Given the description of an element on the screen output the (x, y) to click on. 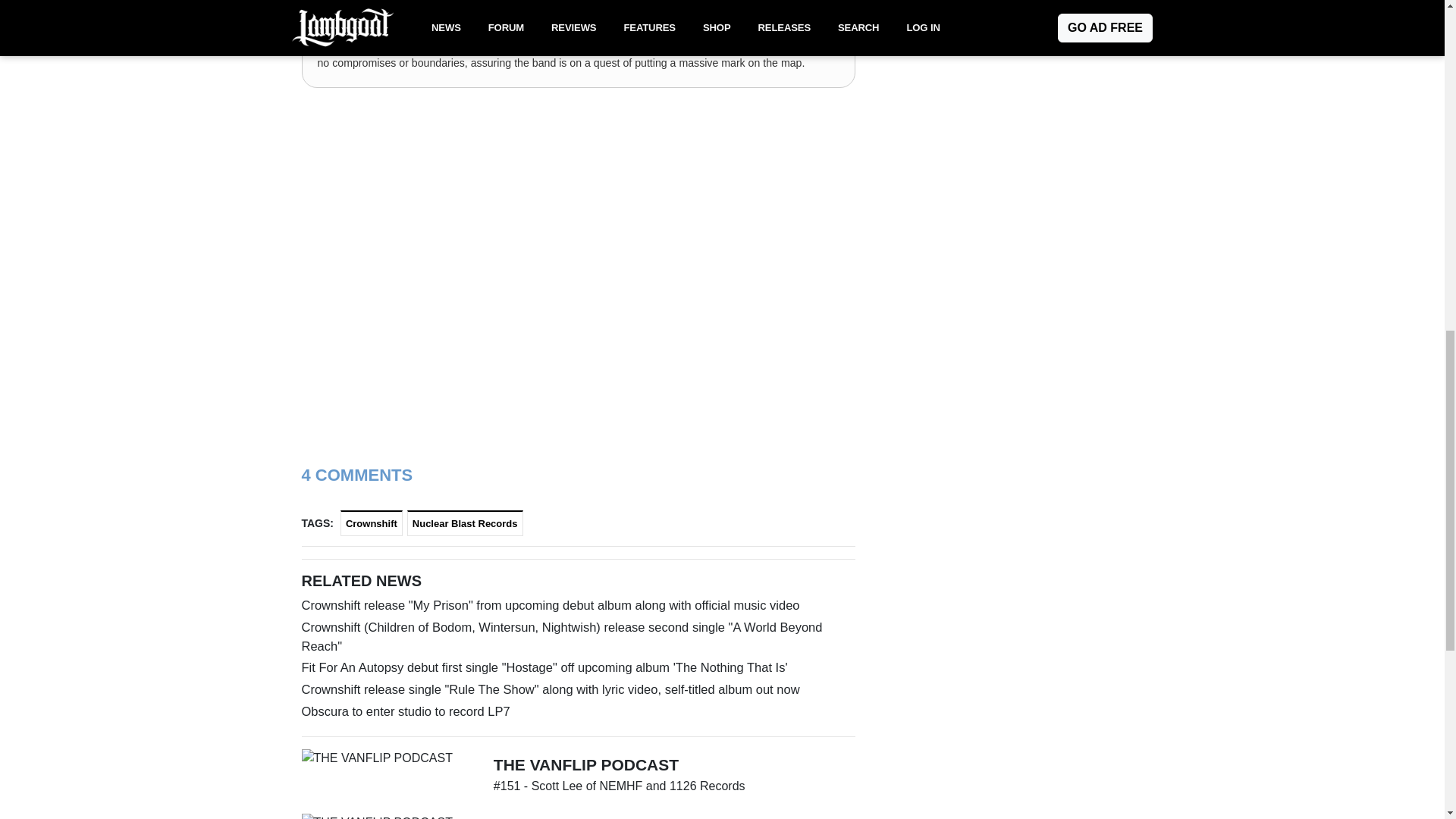
Nuclear Blast Records (464, 522)
Obscura to enter studio to record LP7 (578, 711)
Crownshift (371, 522)
4 COMMENTS (357, 475)
